Given the description of an element on the screen output the (x, y) to click on. 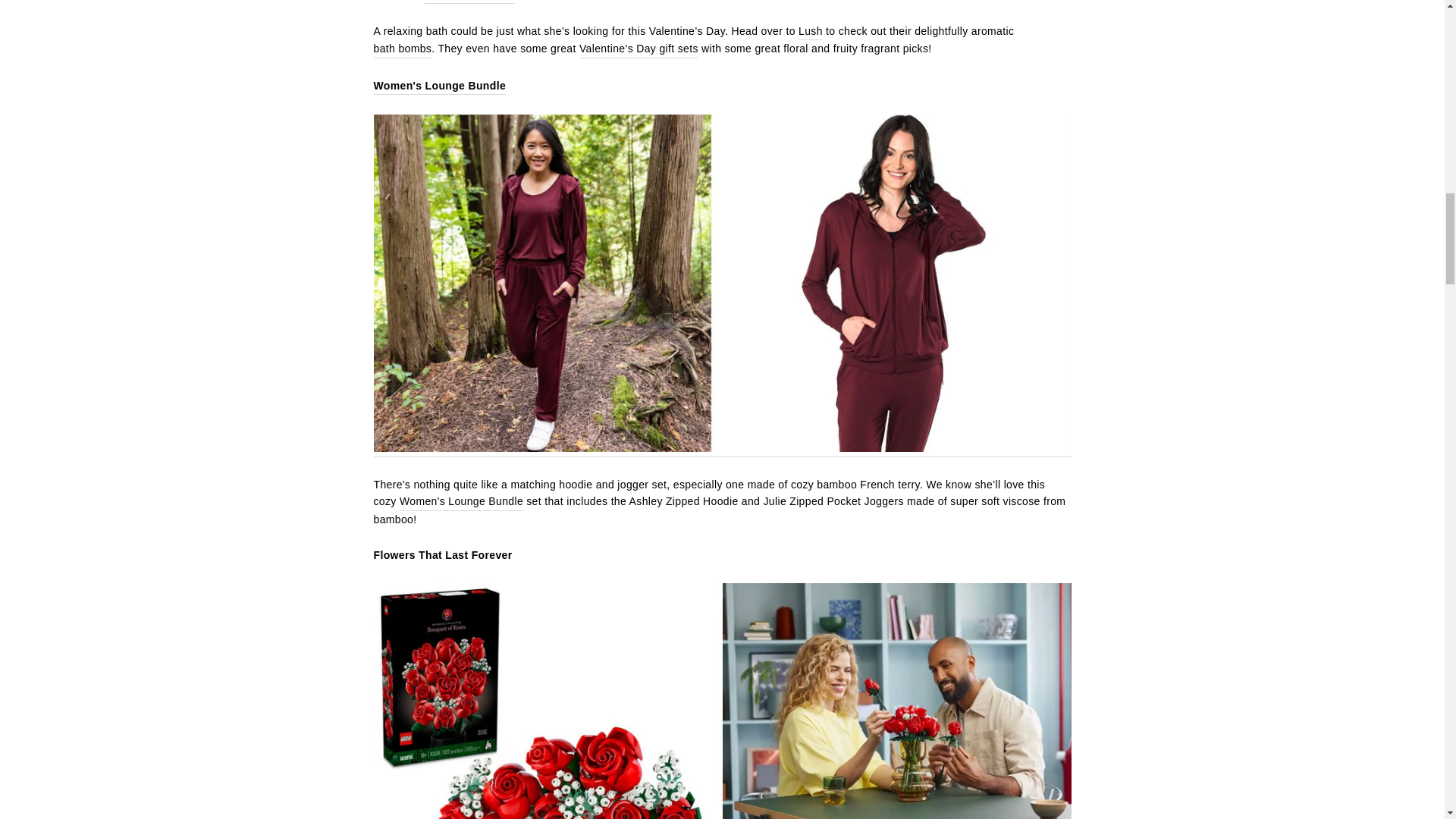
Valentine's day gifts from Lush (638, 48)
Women's lounge bundle set made of bamboo fabric (438, 85)
Lush valentine's day with love gift set (470, 2)
Women's lounge bundle set (460, 501)
Lush bath bombs (401, 48)
Lush Valentine's Day gifts (809, 31)
